Given the description of an element on the screen output the (x, y) to click on. 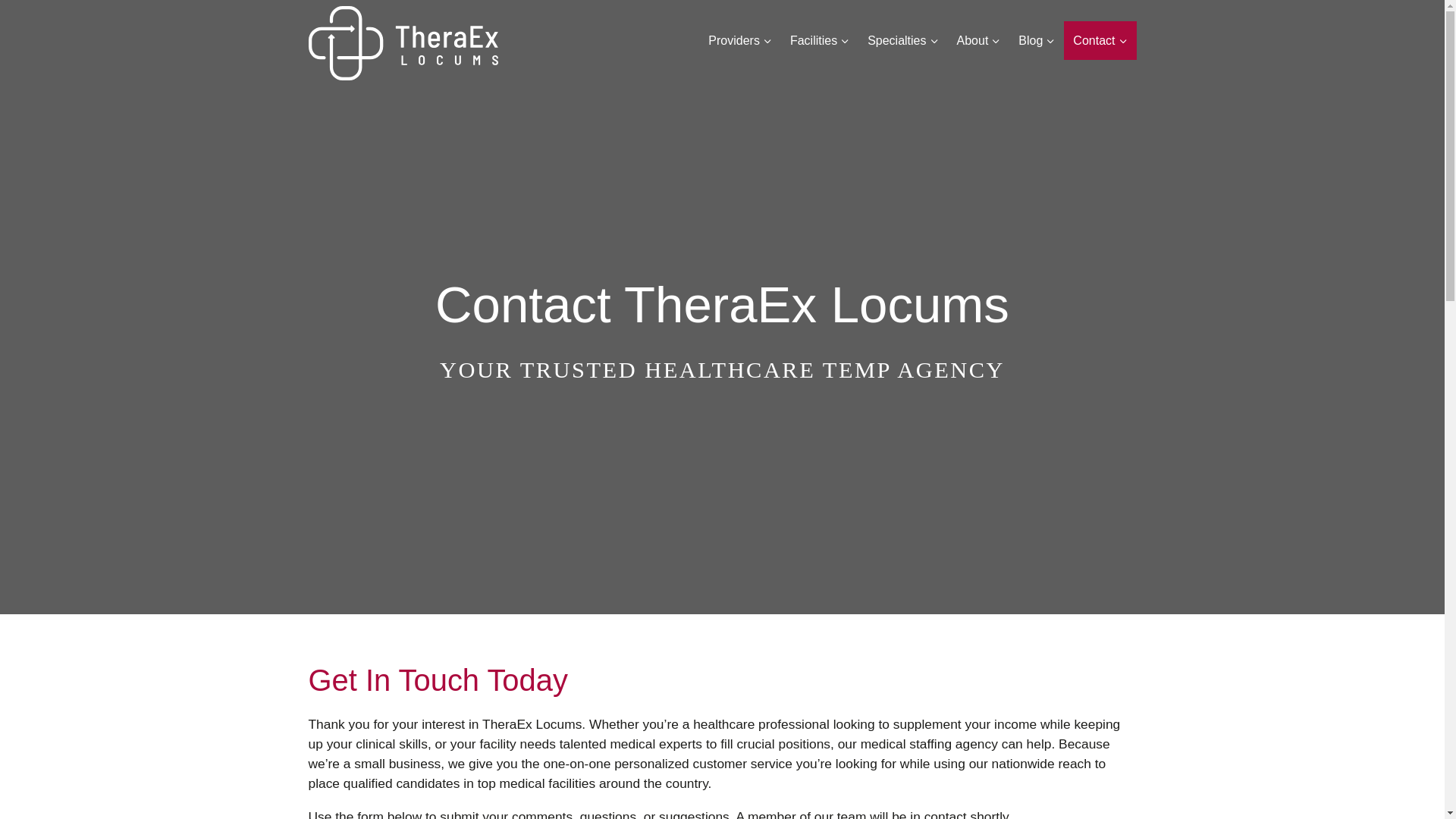
Contact (1099, 40)
Providers (739, 40)
Facilities (819, 40)
Specialties (903, 40)
Blog (1036, 40)
About (978, 40)
